Given the description of an element on the screen output the (x, y) to click on. 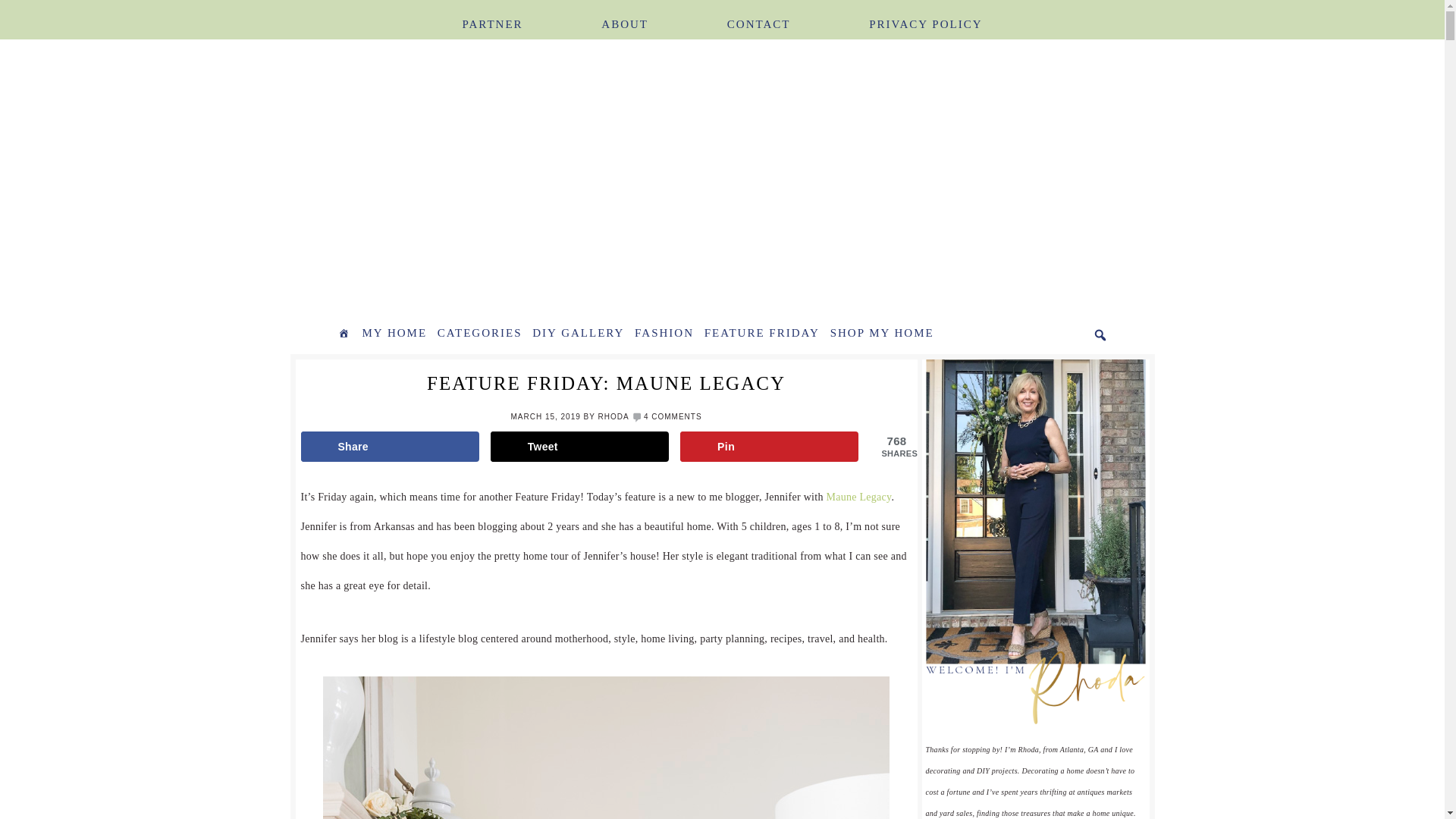
CATEGORIES (479, 334)
RHODA (613, 416)
SOUTHERN HOSPITALITY (494, 179)
4 COMMENTS (672, 416)
Tweet (579, 446)
Share (389, 446)
DIY GALLERY (577, 334)
Share on X (579, 446)
SHOP MY HOME (882, 334)
Save to Pinterest (769, 446)
